Given the description of an element on the screen output the (x, y) to click on. 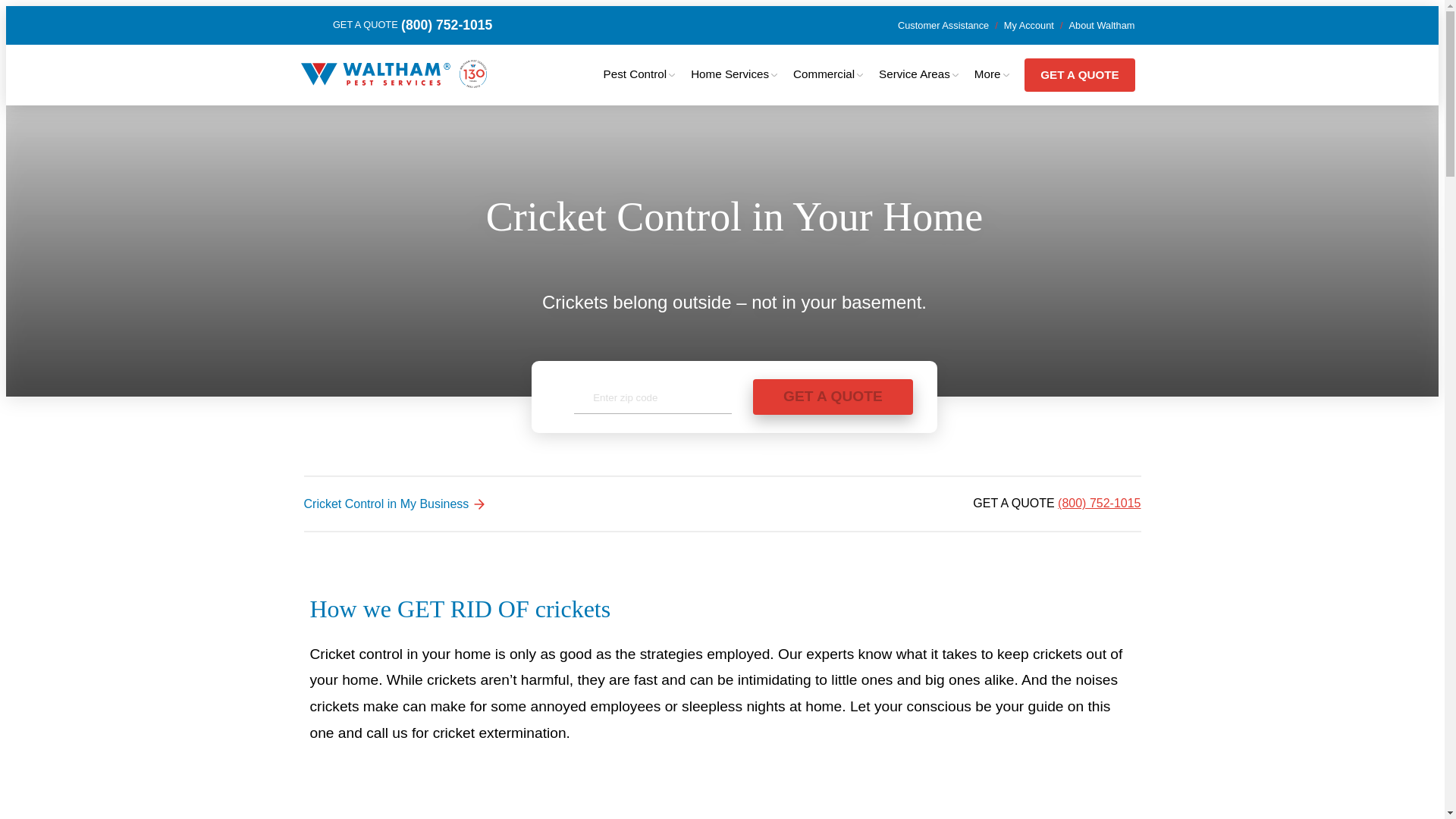
About Waltham (1101, 25)
My Account (1029, 25)
GET A QUOTE (832, 397)
Customer Assistance (943, 25)
